Given the description of an element on the screen output the (x, y) to click on. 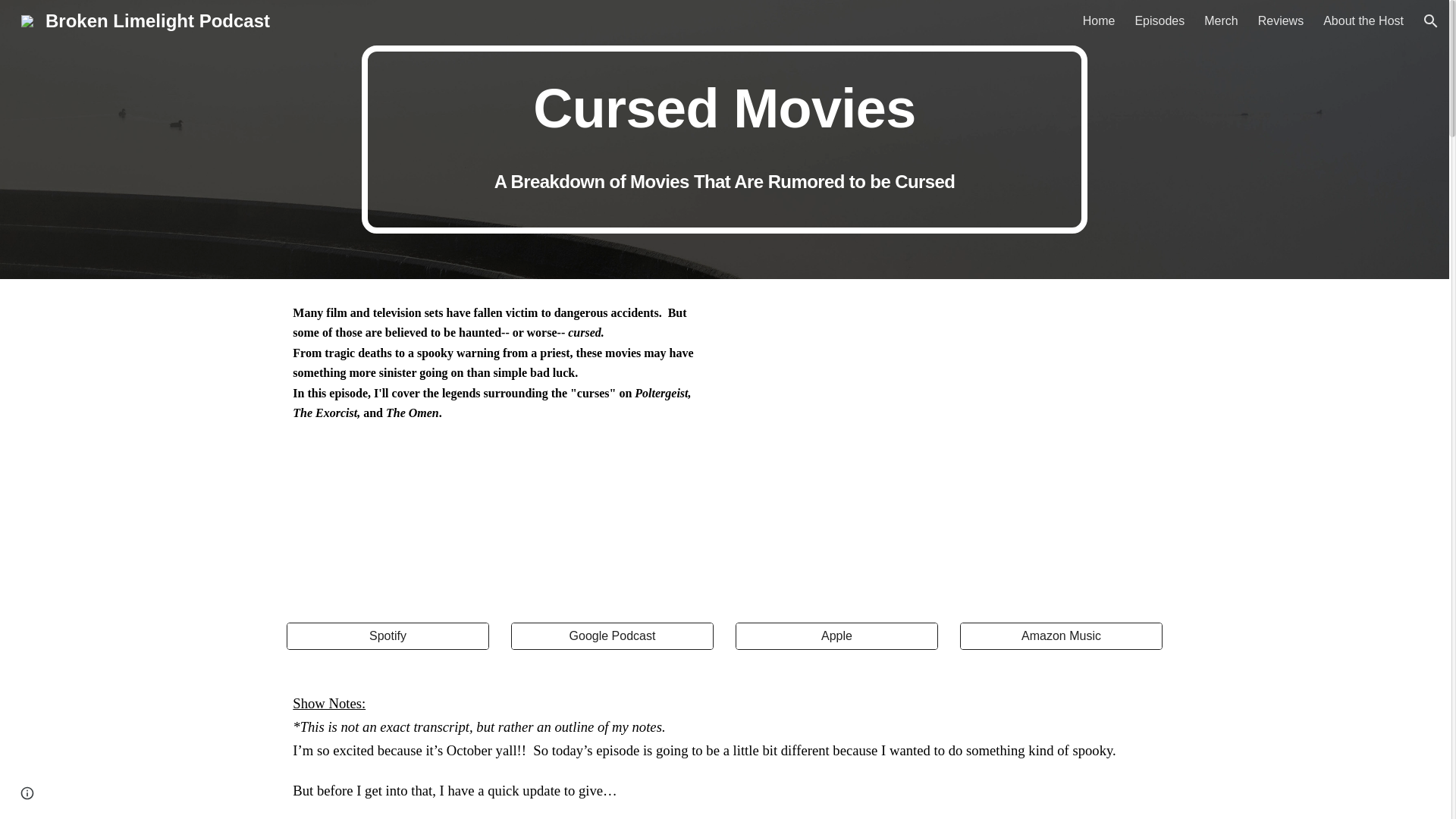
Reviews (1280, 20)
Apple (836, 635)
Broken Limelight Podcast (145, 19)
Merch (1220, 20)
Spotify (386, 635)
Google Podcast (611, 635)
About the Host (1363, 20)
Amazon Music (1060, 635)
Home (1099, 20)
Episodes (1159, 20)
